Given the description of an element on the screen output the (x, y) to click on. 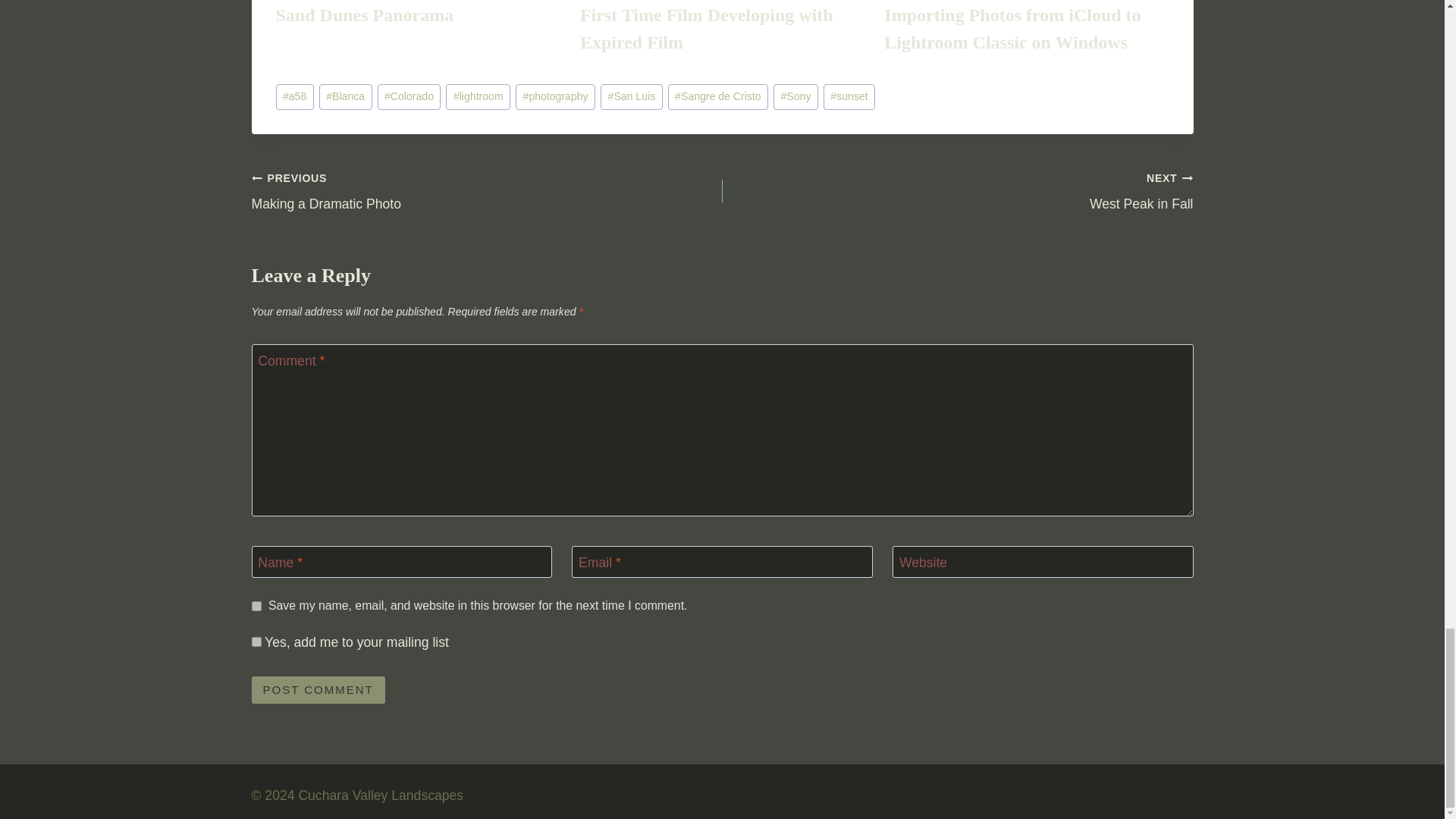
yes (256, 605)
First Time Film Developing with Expired Film  (705, 28)
a58 (295, 96)
Sand Dunes Panorama (365, 14)
Importing Photos from iCloud to Lightroom Classic on Windows (1011, 28)
Post Comment (318, 689)
Blanca (345, 96)
Sand Dunes Panorama (365, 14)
1 (256, 642)
